Given the description of an element on the screen output the (x, y) to click on. 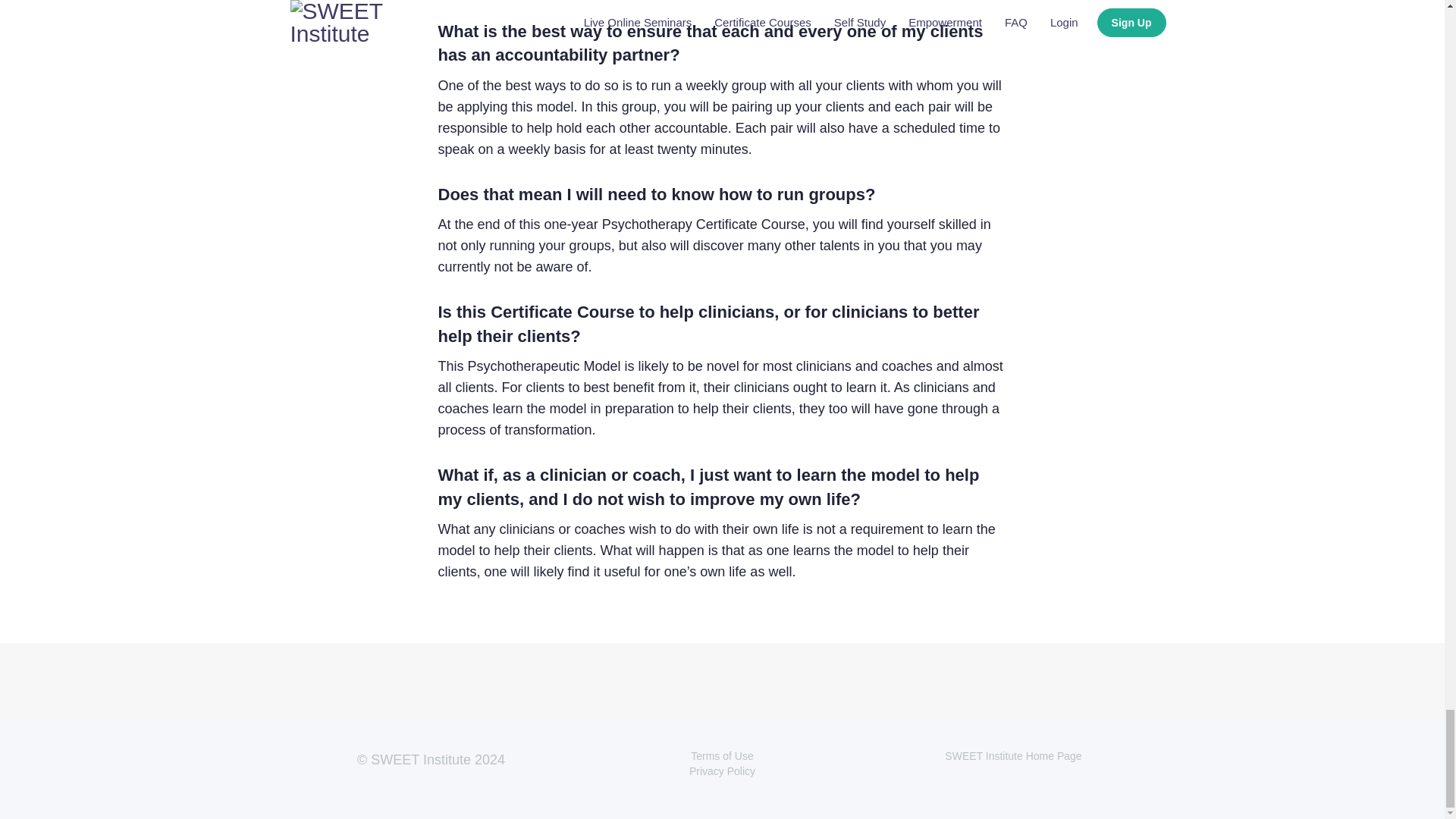
Terms of Use (721, 756)
Privacy Policy (721, 770)
SWEET Institute Home Page (1012, 756)
